Given the description of an element on the screen output the (x, y) to click on. 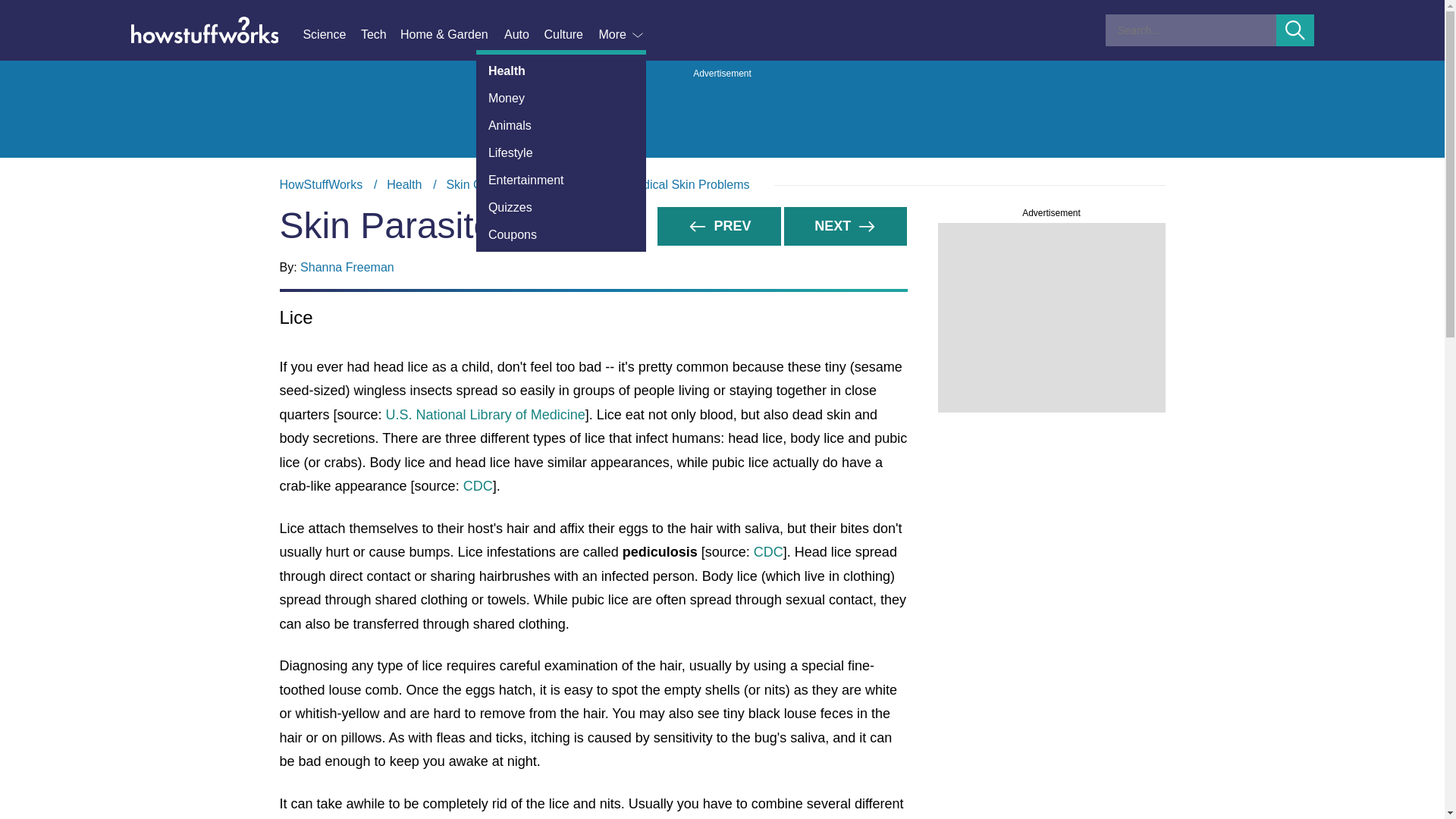
Animals (561, 125)
Money (561, 98)
Coupons (561, 234)
Entertainment (561, 180)
Culture (570, 34)
Health (561, 71)
Science (330, 34)
Skin Care (472, 184)
Health (404, 184)
Lifestyle (561, 153)
